Given the description of an element on the screen output the (x, y) to click on. 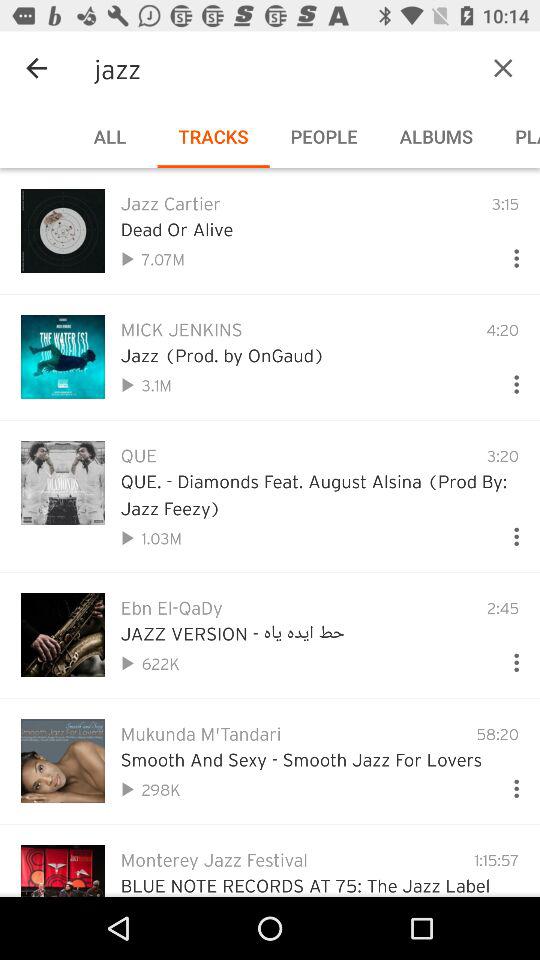
select song options (508, 532)
